Given the description of an element on the screen output the (x, y) to click on. 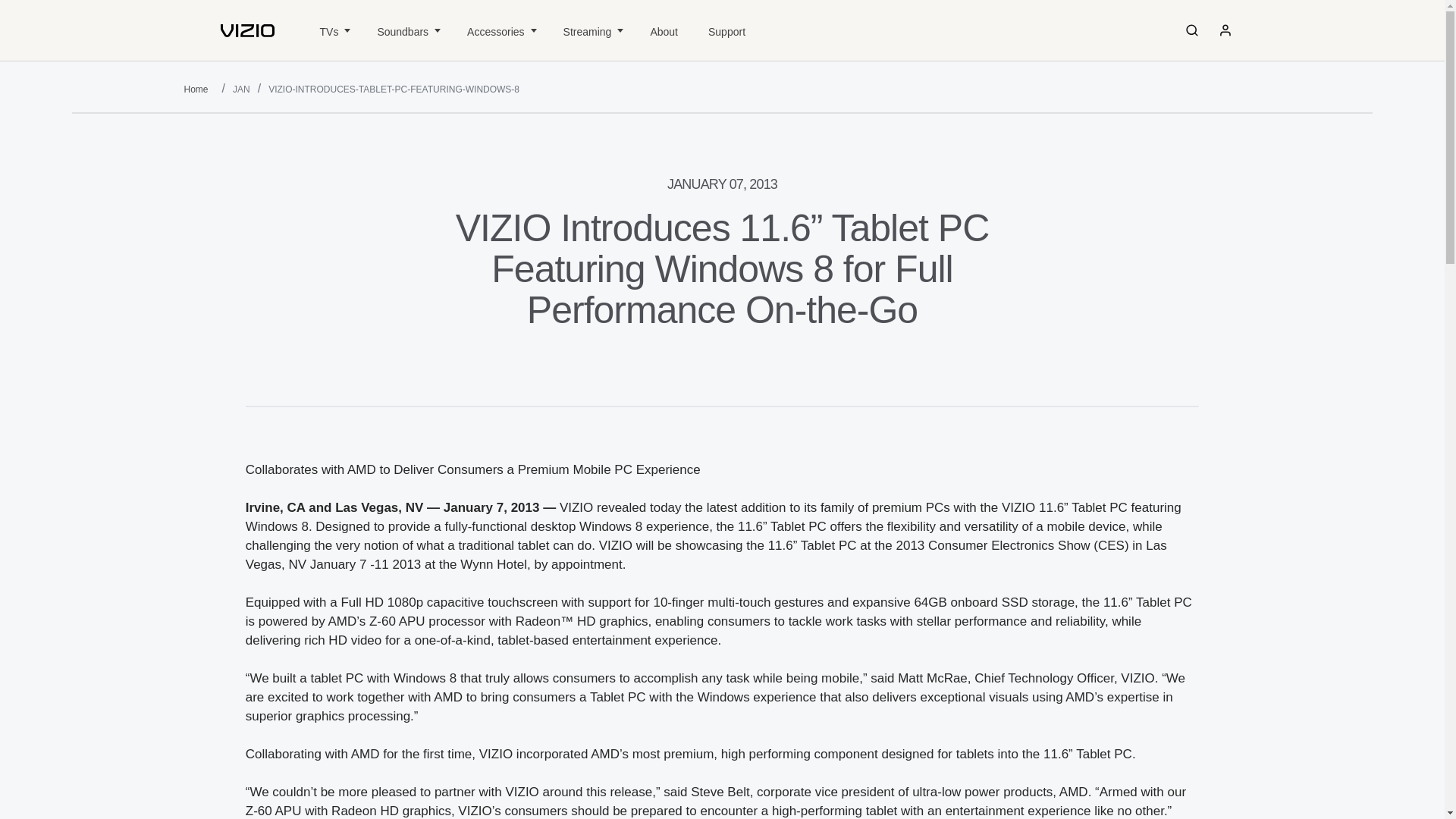
Streaming (591, 30)
Soundbars (406, 30)
About (663, 30)
TVs (334, 30)
Accessories (500, 30)
Support (726, 30)
